Given the description of an element on the screen output the (x, y) to click on. 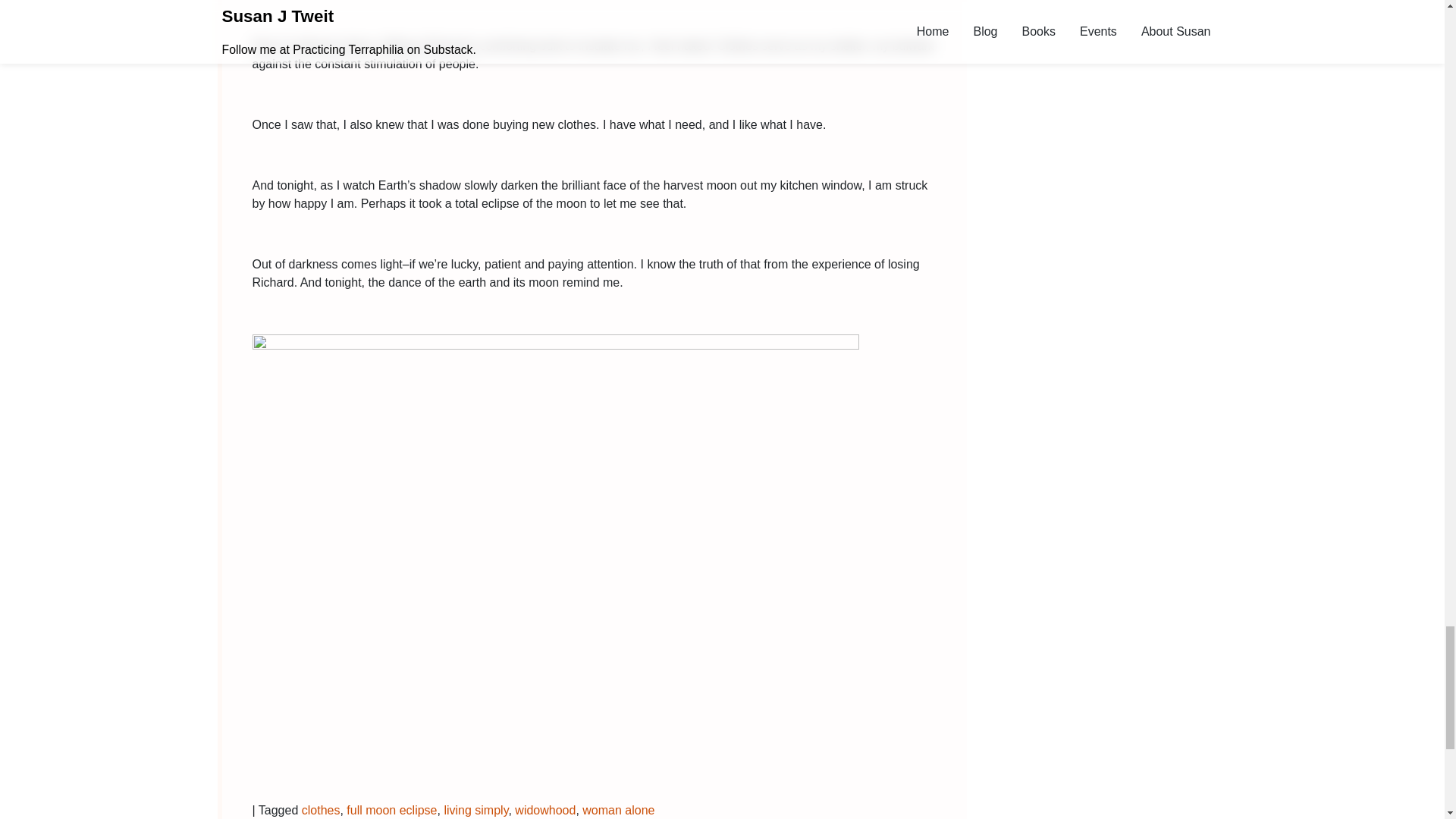
widowhood (545, 809)
living simply (476, 809)
clothes (320, 809)
woman alone (617, 809)
full moon eclipse (391, 809)
